Given the description of an element on the screen output the (x, y) to click on. 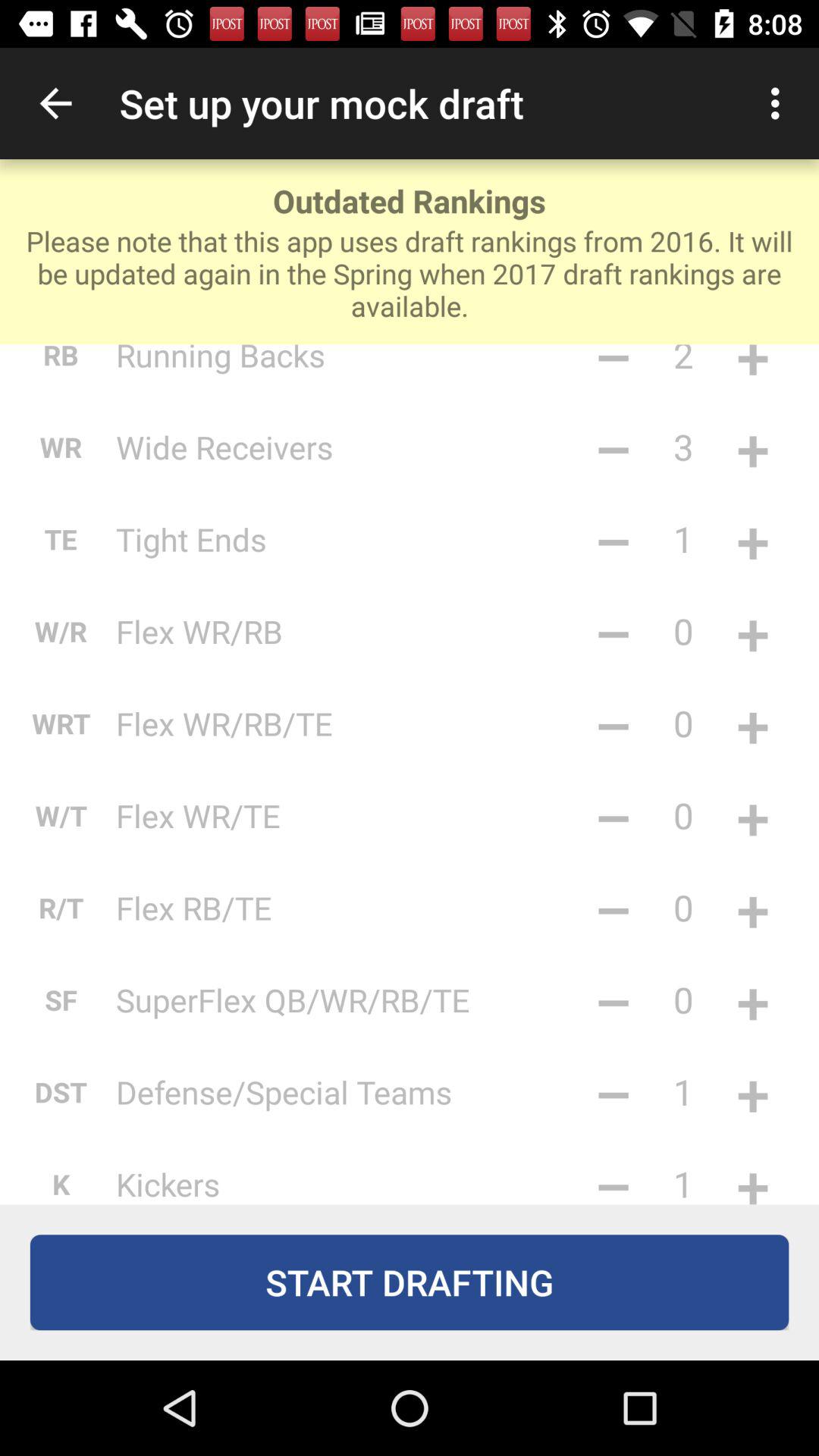
launch item below the + item (752, 815)
